Given the description of an element on the screen output the (x, y) to click on. 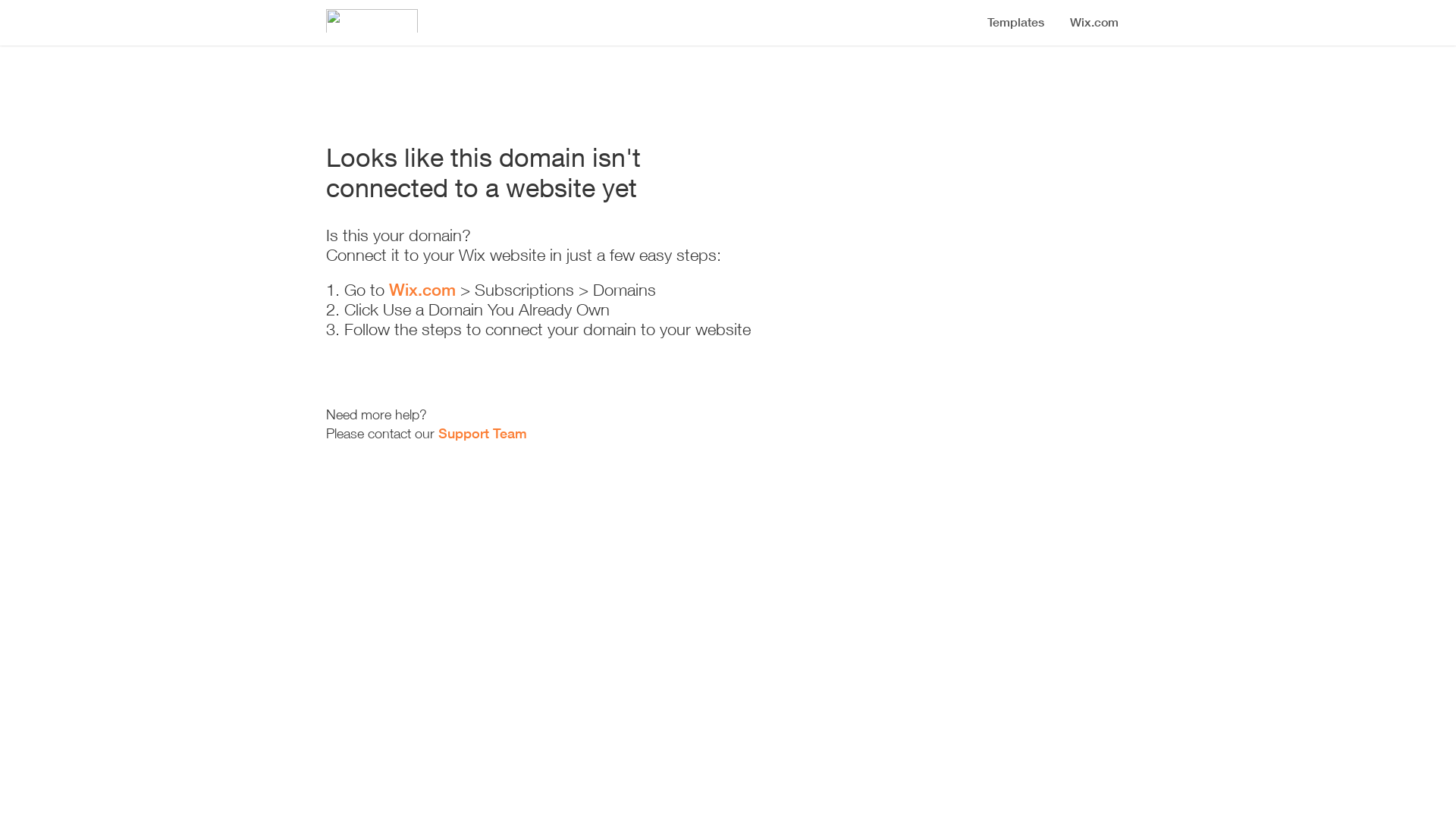
Support Team Element type: text (482, 433)
Wix.com Element type: text (422, 289)
